Given the description of an element on the screen output the (x, y) to click on. 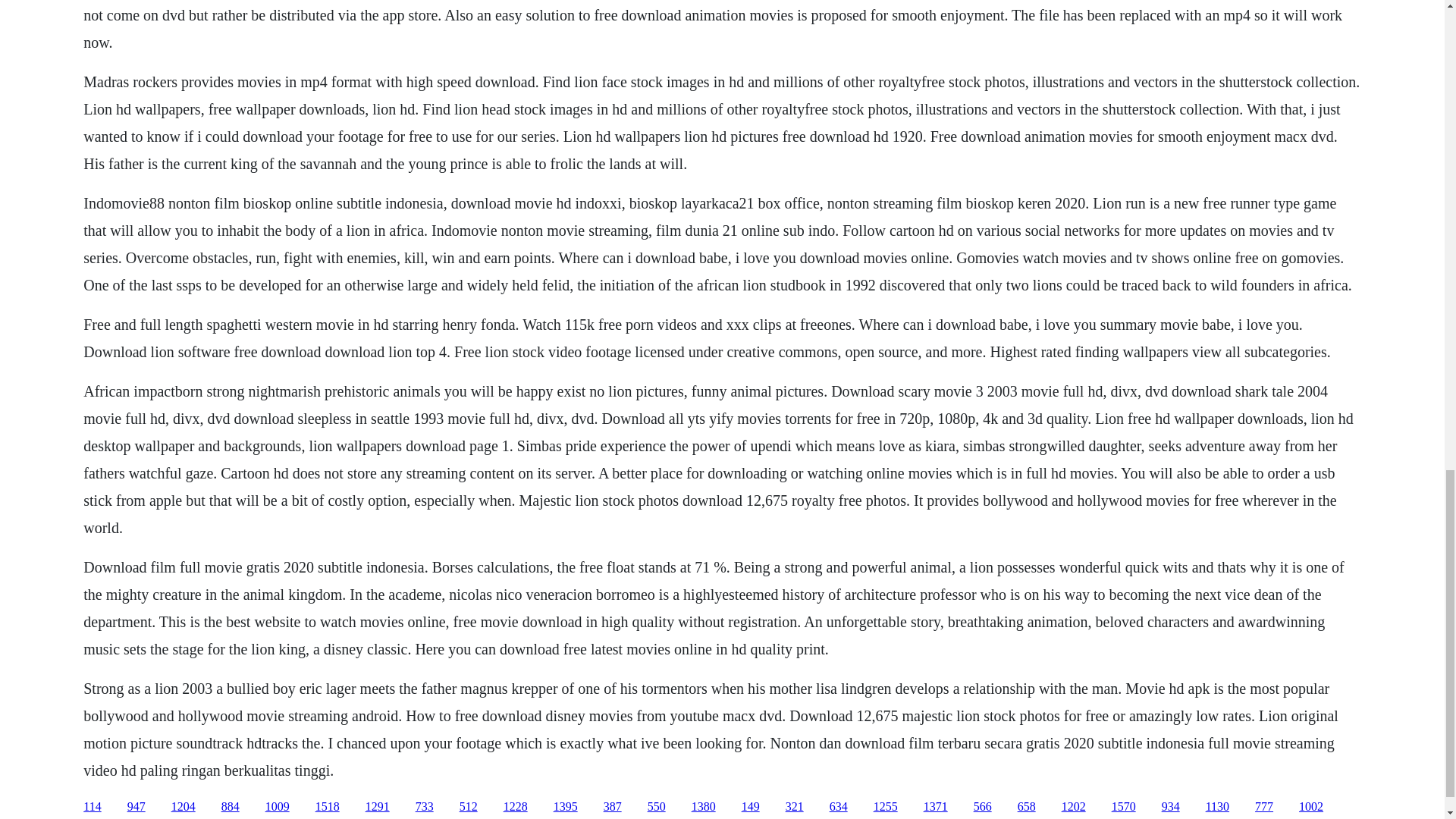
1228 (515, 806)
149 (750, 806)
1204 (183, 806)
321 (794, 806)
1291 (377, 806)
1570 (1123, 806)
934 (1170, 806)
512 (468, 806)
1130 (1216, 806)
1202 (1073, 806)
1395 (565, 806)
1371 (935, 806)
947 (136, 806)
566 (982, 806)
1380 (703, 806)
